Given the description of an element on the screen output the (x, y) to click on. 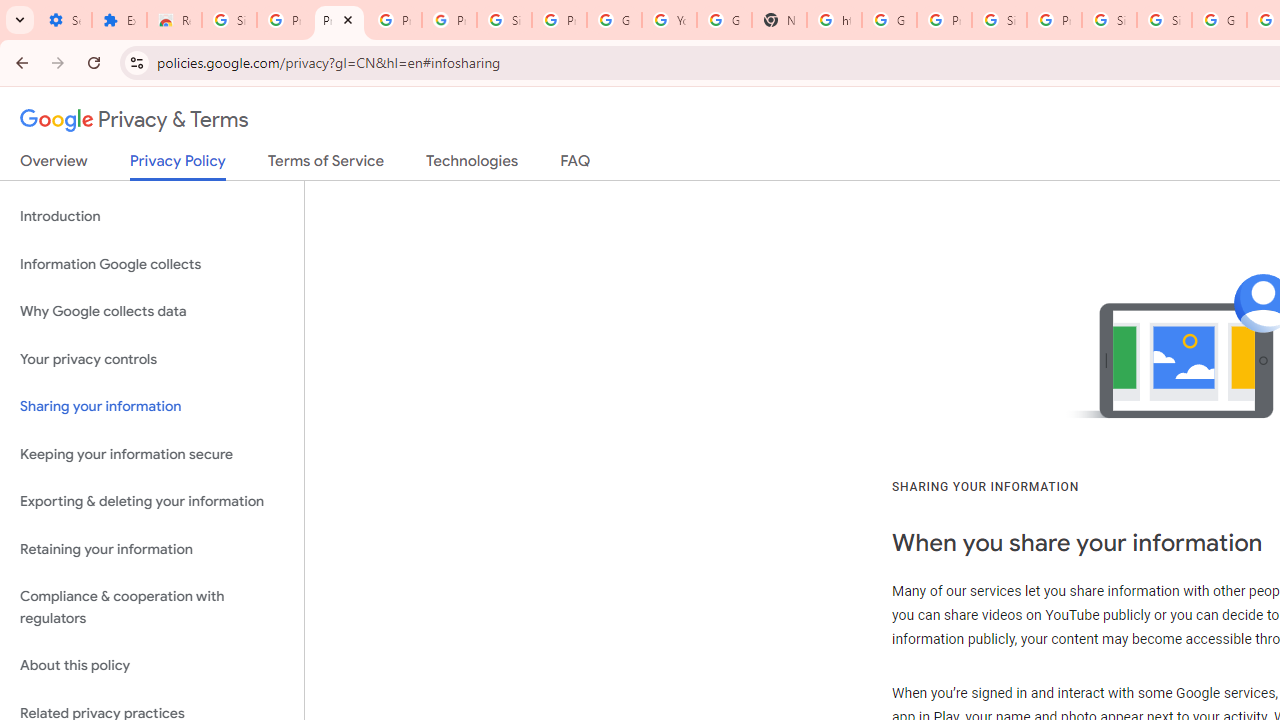
Google Account (614, 20)
Sign in - Google Accounts (1163, 20)
Sign in - Google Accounts (1108, 20)
Settings - On startup (64, 20)
